Given the description of an element on the screen output the (x, y) to click on. 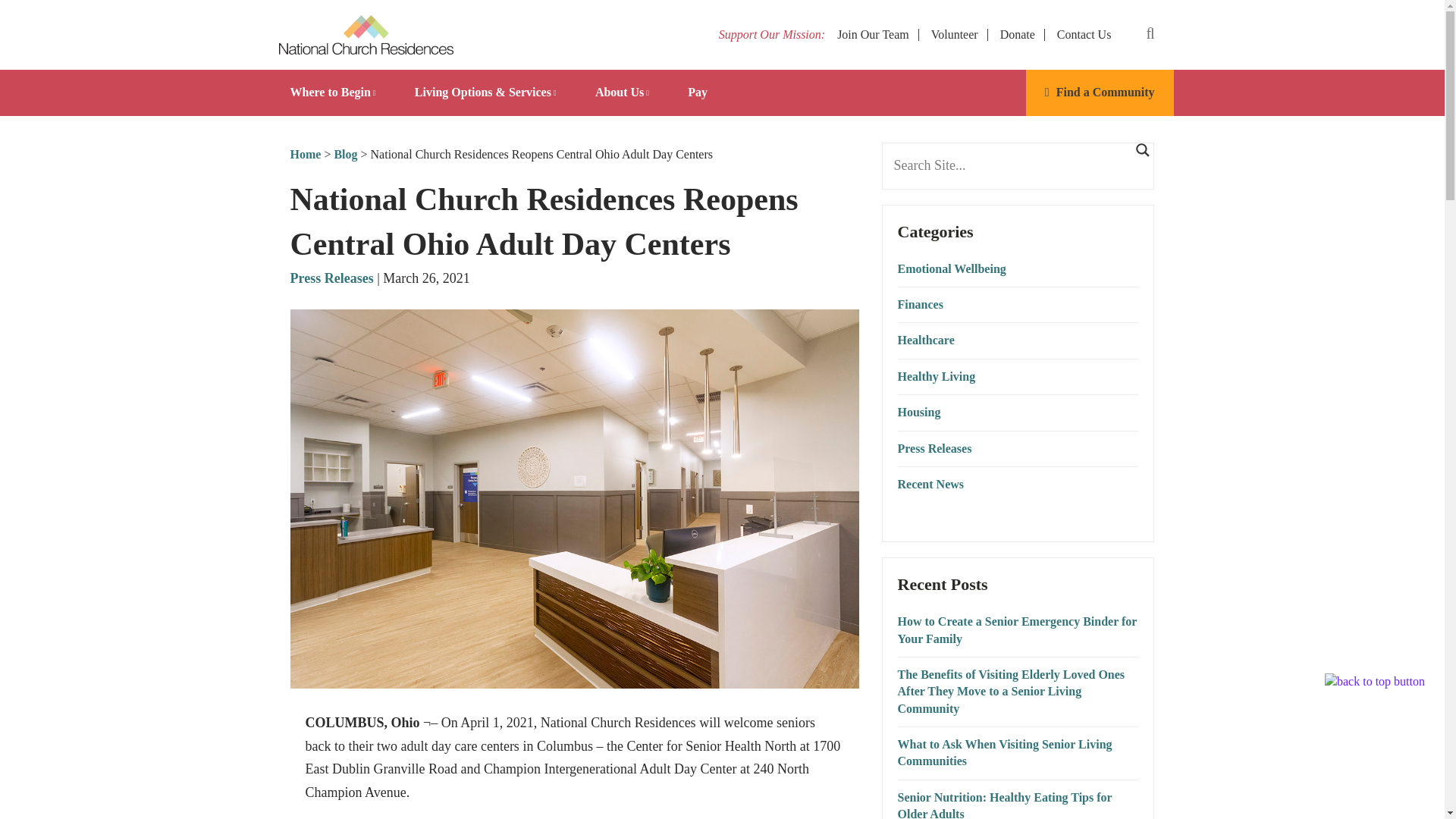
Join Our Team (872, 34)
Contact Us (1084, 34)
Volunteer (954, 34)
Donate (1017, 34)
Where to Begin   (333, 92)
